Given the description of an element on the screen output the (x, y) to click on. 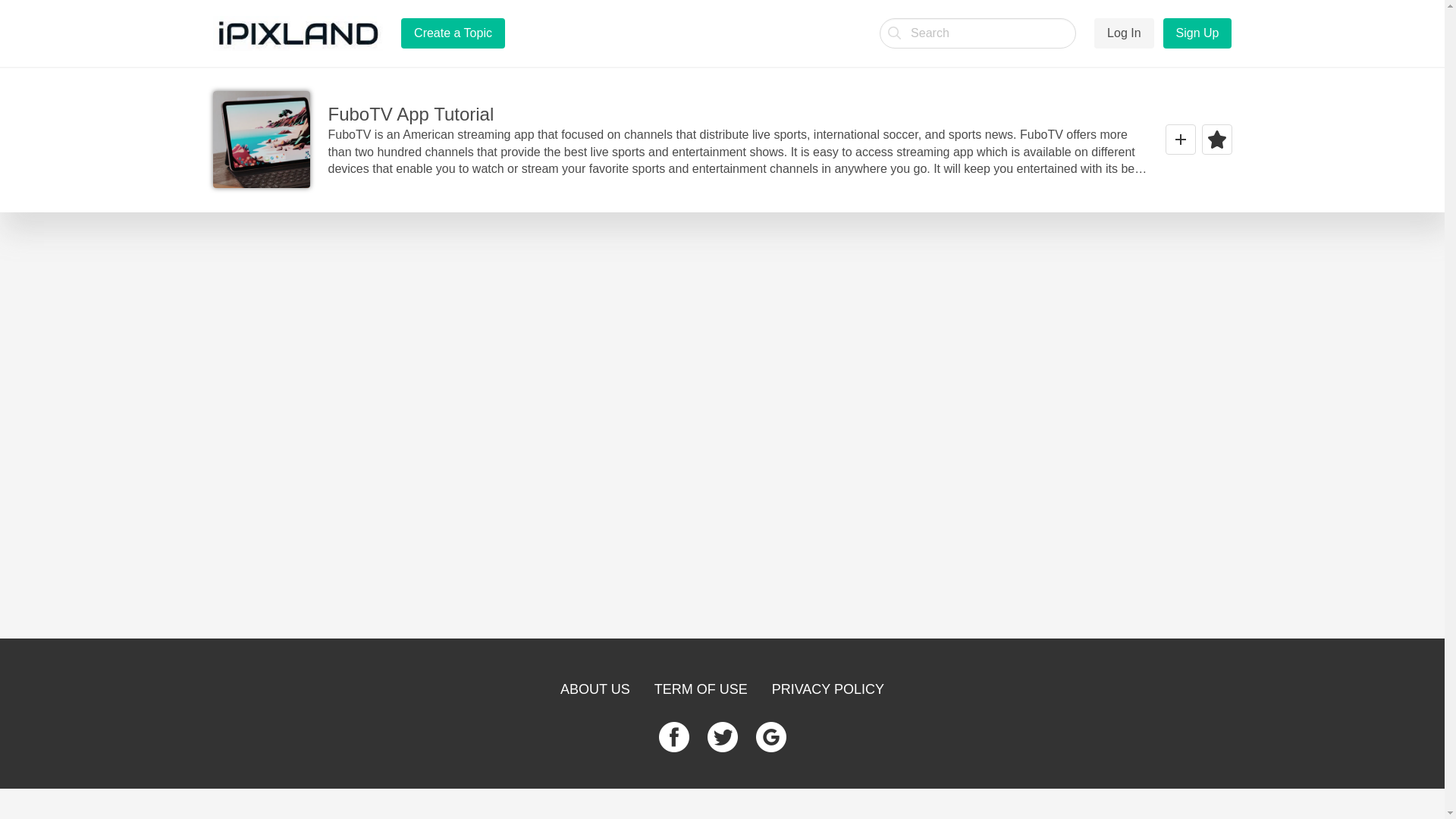
Sign Up (1197, 33)
ABOUT US (595, 688)
TERM OF USE (700, 688)
Log In (1123, 33)
Create a Topic (453, 33)
PRIVACY POLICY (827, 688)
